Given the description of an element on the screen output the (x, y) to click on. 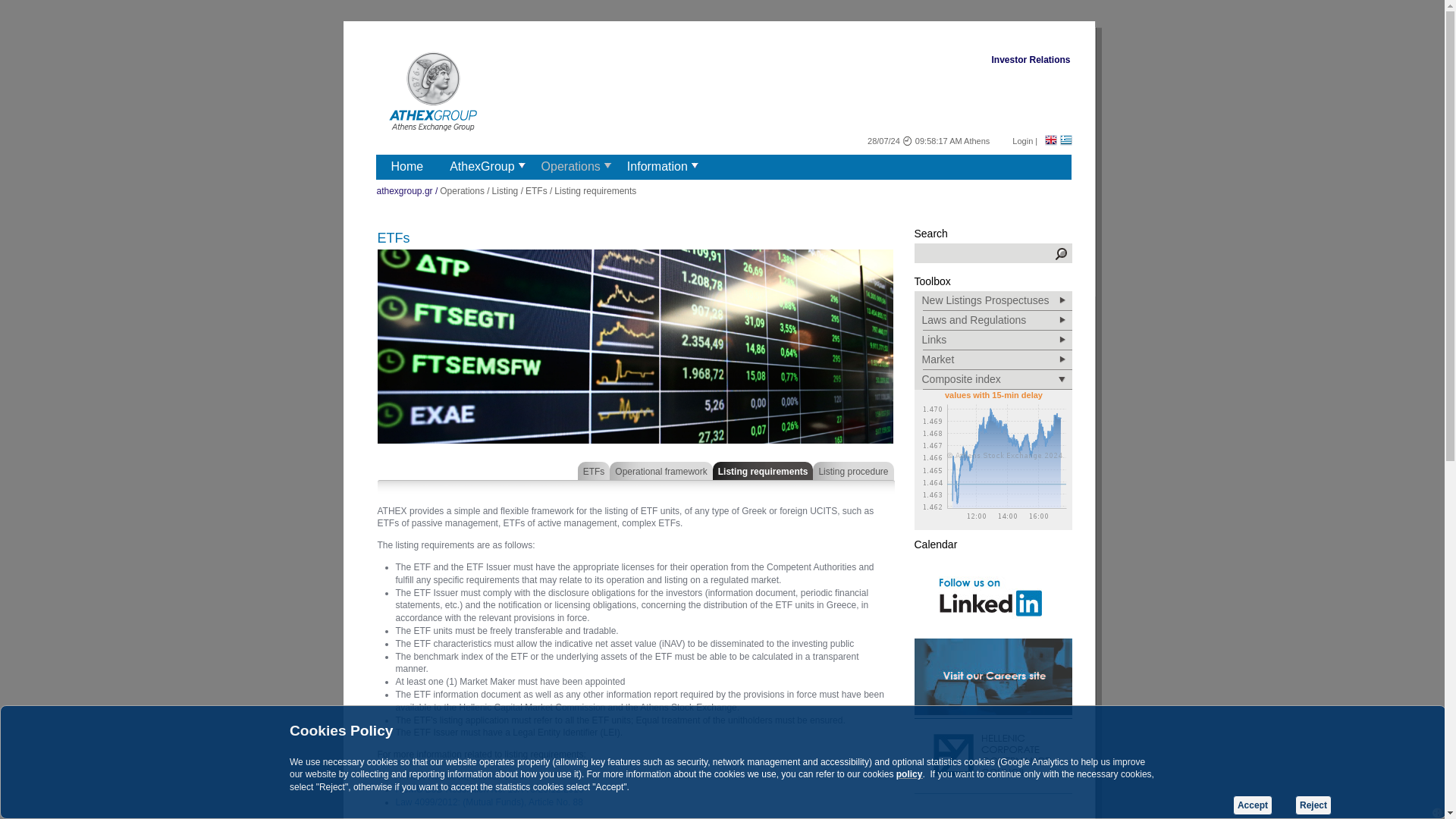
Search (1060, 254)
Investor Relations (1030, 60)
Accept (1252, 804)
Go to athexgroup.gr (431, 92)
AthexGroup (479, 165)
Reject (1313, 804)
English (1051, 140)
Search (983, 252)
Home (405, 165)
